Given the description of an element on the screen output the (x, y) to click on. 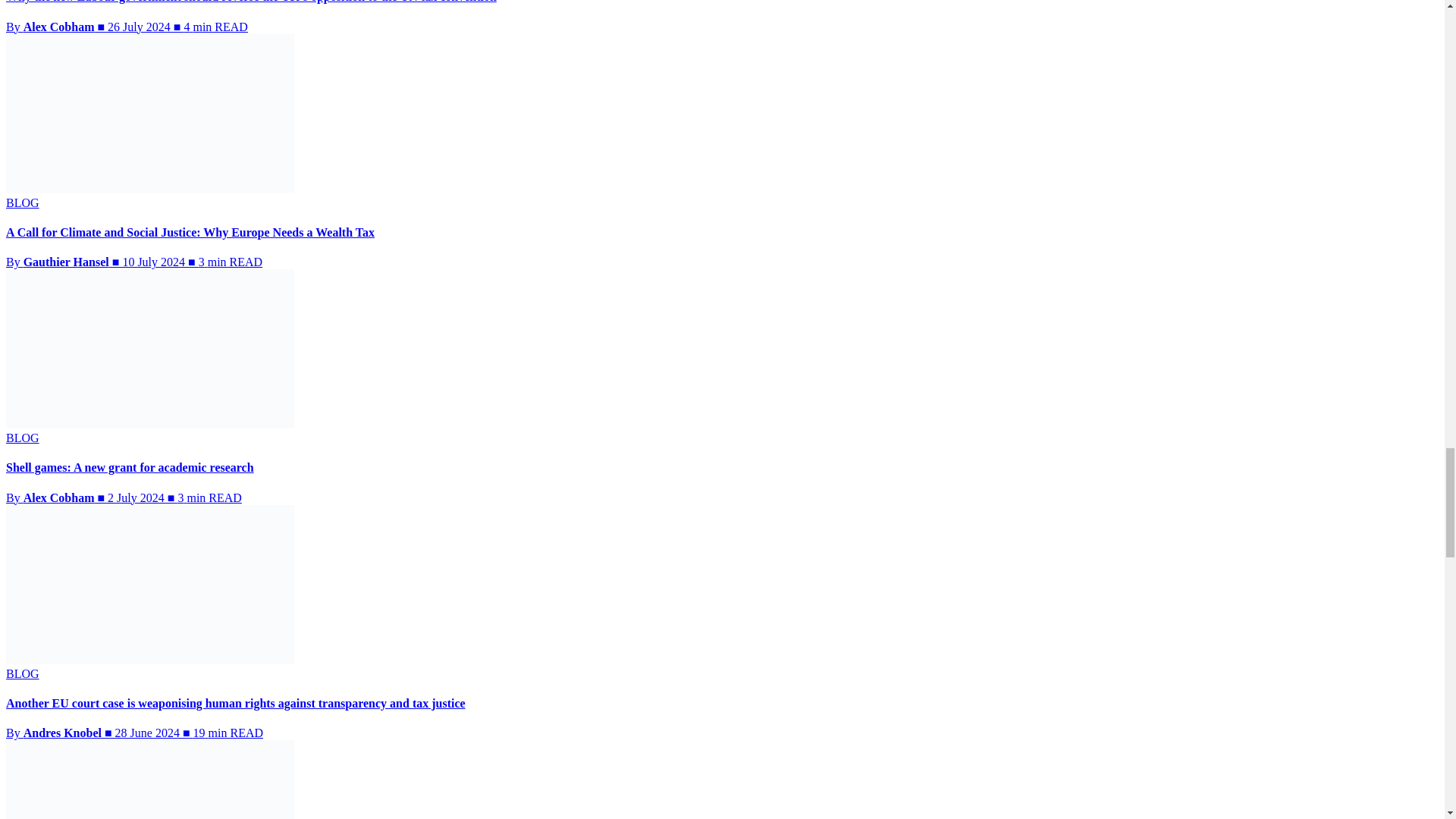
shell games3 (149, 348)
